Given the description of an element on the screen output the (x, y) to click on. 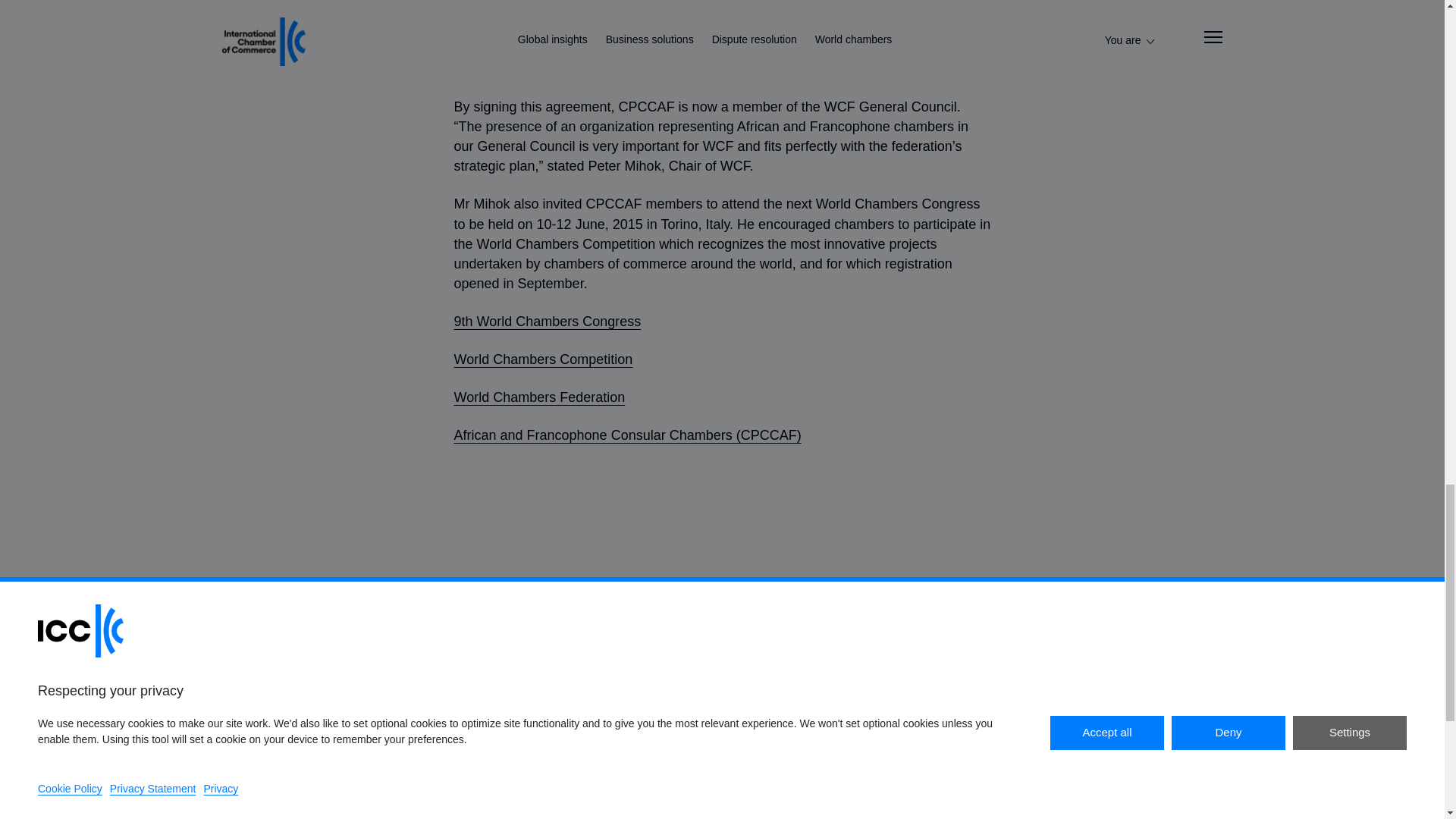
9th World Chambers Congress (546, 321)
